Given the description of an element on the screen output the (x, y) to click on. 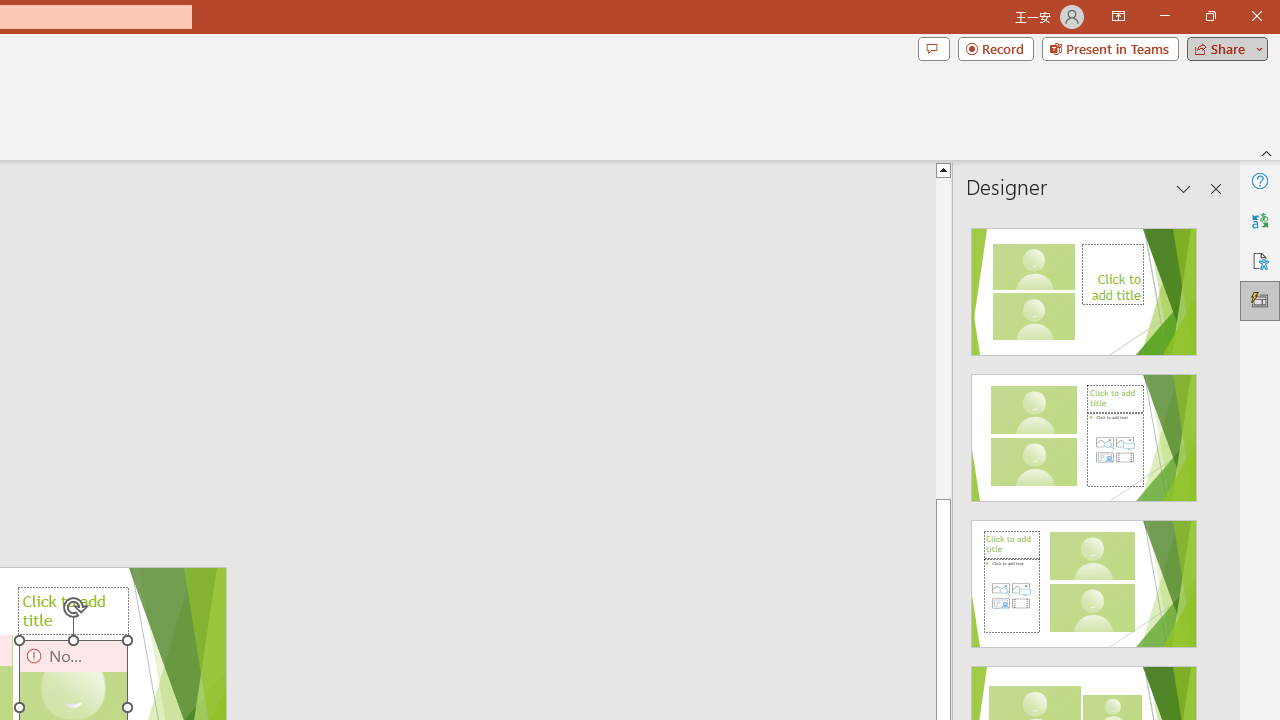
Recommended Design: Design Idea (1083, 286)
